Given the description of an element on the screen output the (x, y) to click on. 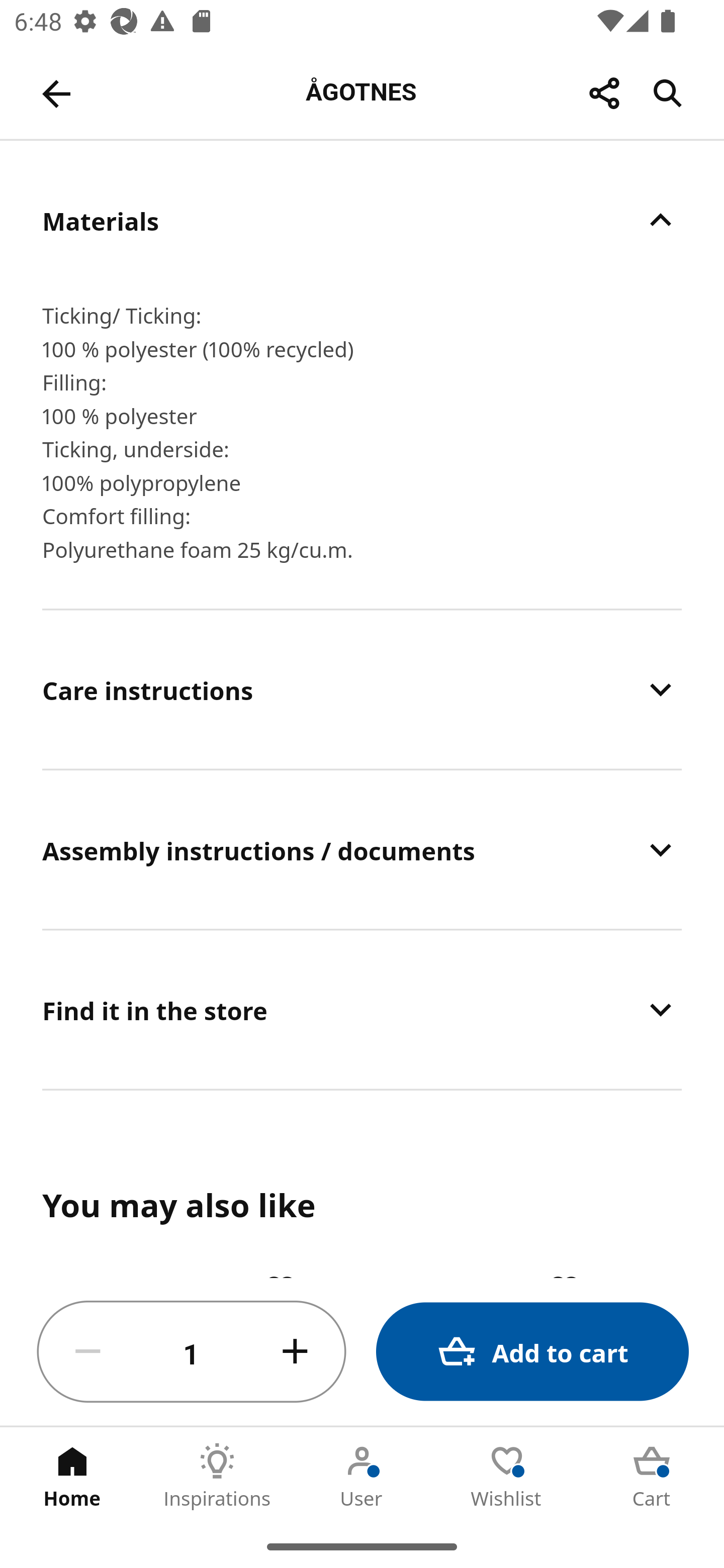
Materials (361, 219)
Care instructions (361, 688)
Assembly instructions / documents (361, 849)
Find it in the store (361, 1009)
Add to cart (531, 1352)
1 (191, 1352)
Home
Tab 1 of 5 (72, 1476)
Inspirations
Tab 2 of 5 (216, 1476)
User
Tab 3 of 5 (361, 1476)
Wishlist
Tab 4 of 5 (506, 1476)
Cart
Tab 5 of 5 (651, 1476)
